Given the description of an element on the screen output the (x, y) to click on. 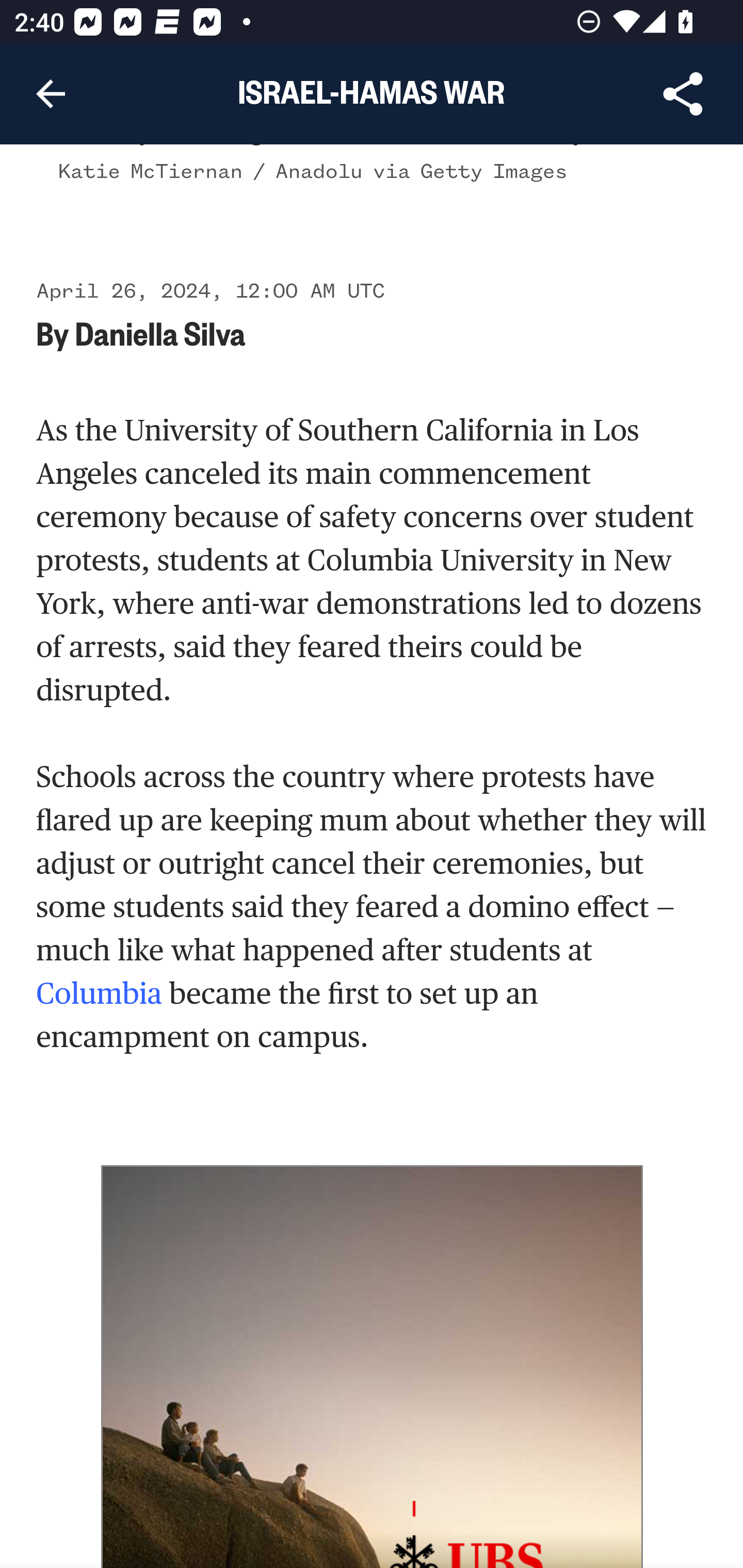
Navigate up (50, 93)
Share Article, button (683, 94)
Columbia (100, 994)
